Given the description of an element on the screen output the (x, y) to click on. 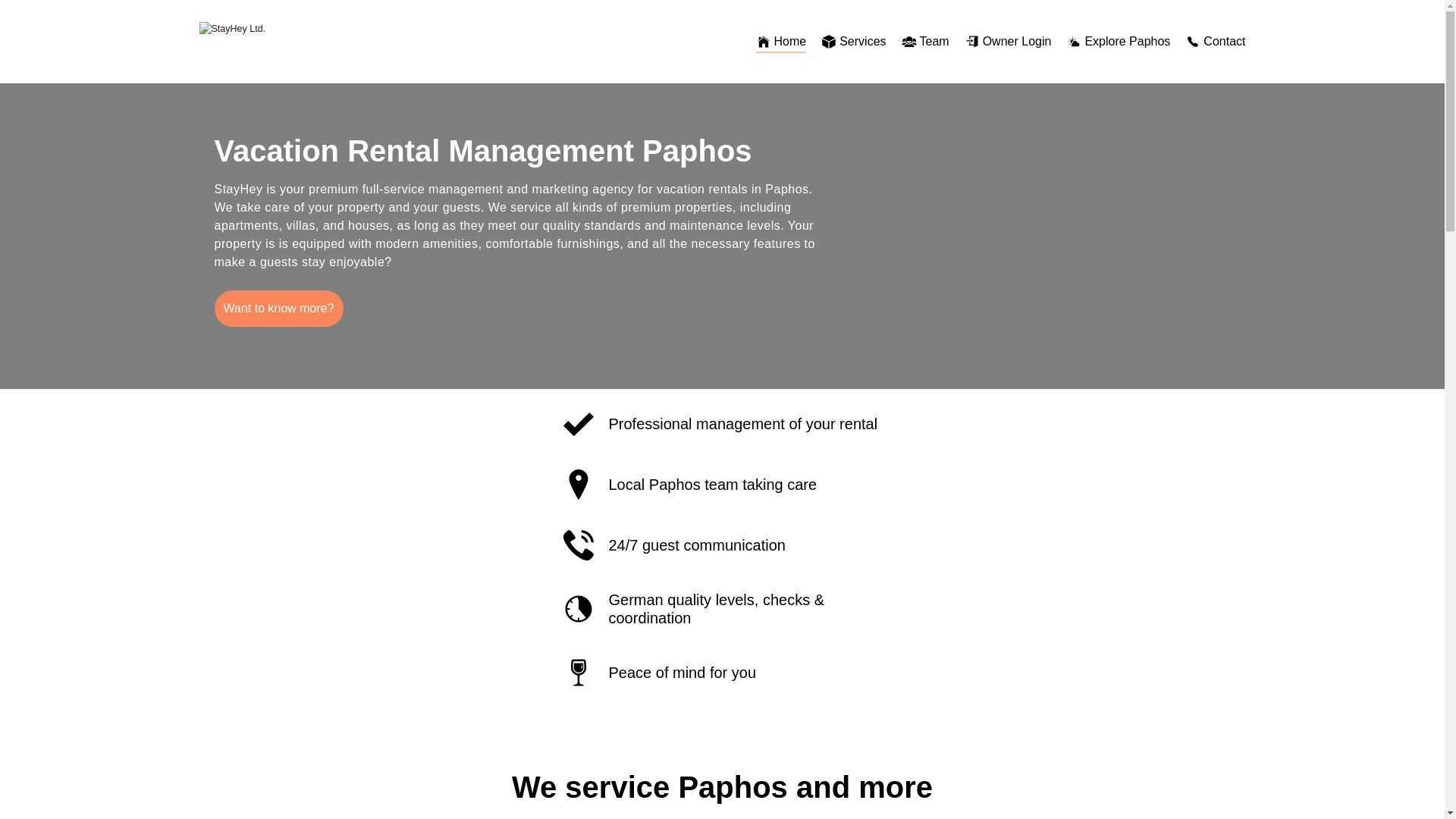
Explore Paphos (1117, 41)
Owner Login (1007, 41)
Team (924, 41)
Team (924, 41)
Want to know more? (278, 308)
Contact (1214, 41)
Home (780, 41)
StayHey Ltd. (270, 41)
Explore Paphos (1117, 41)
Contact (1214, 41)
